Given the description of an element on the screen output the (x, y) to click on. 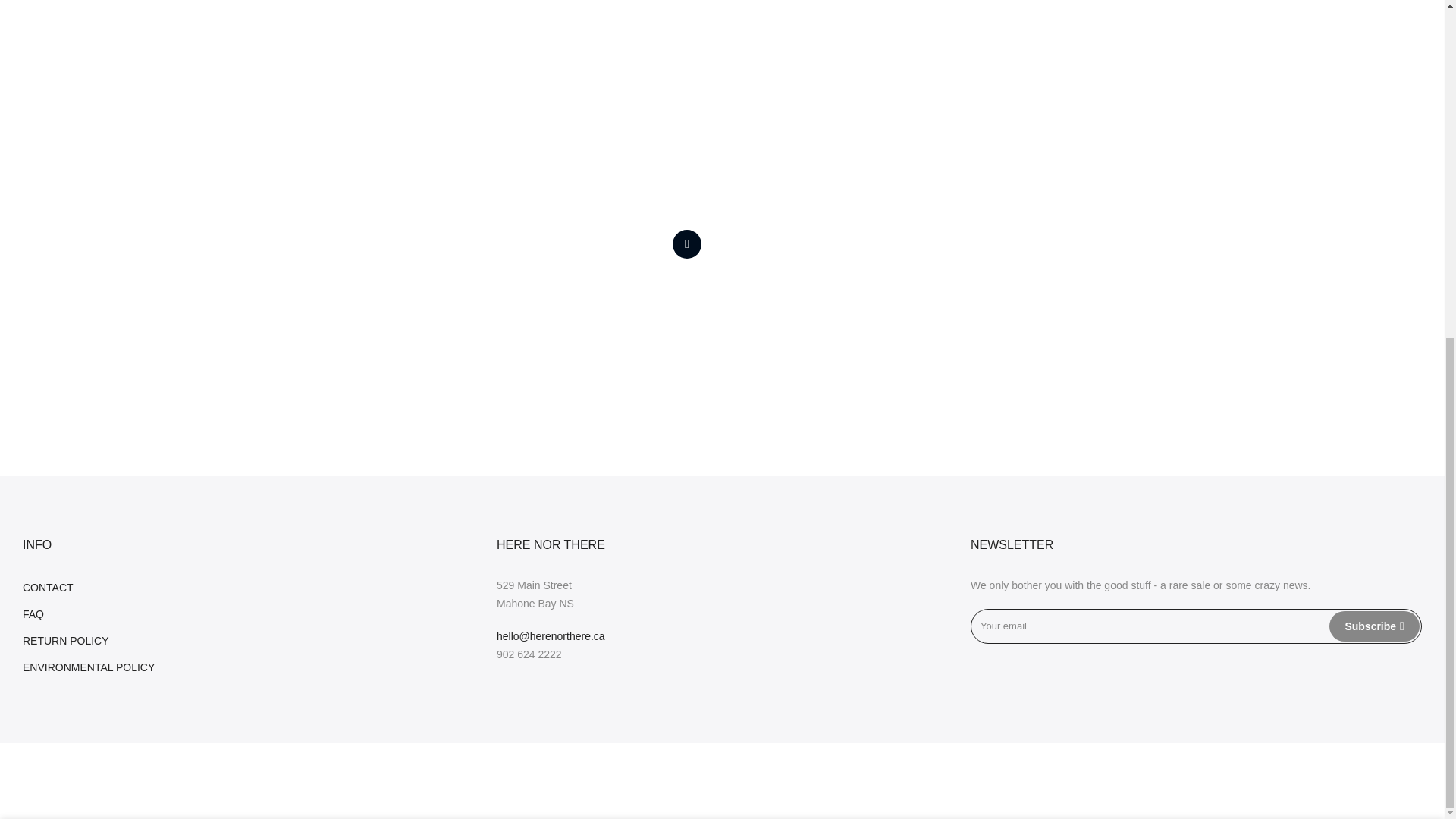
RETURN POLICY (66, 640)
CONTACT (48, 587)
1 (1257, 283)
Subscribe (1374, 625)
ENVIRONMENTAL POLICY (88, 666)
FAQ (33, 613)
